Given the description of an element on the screen output the (x, y) to click on. 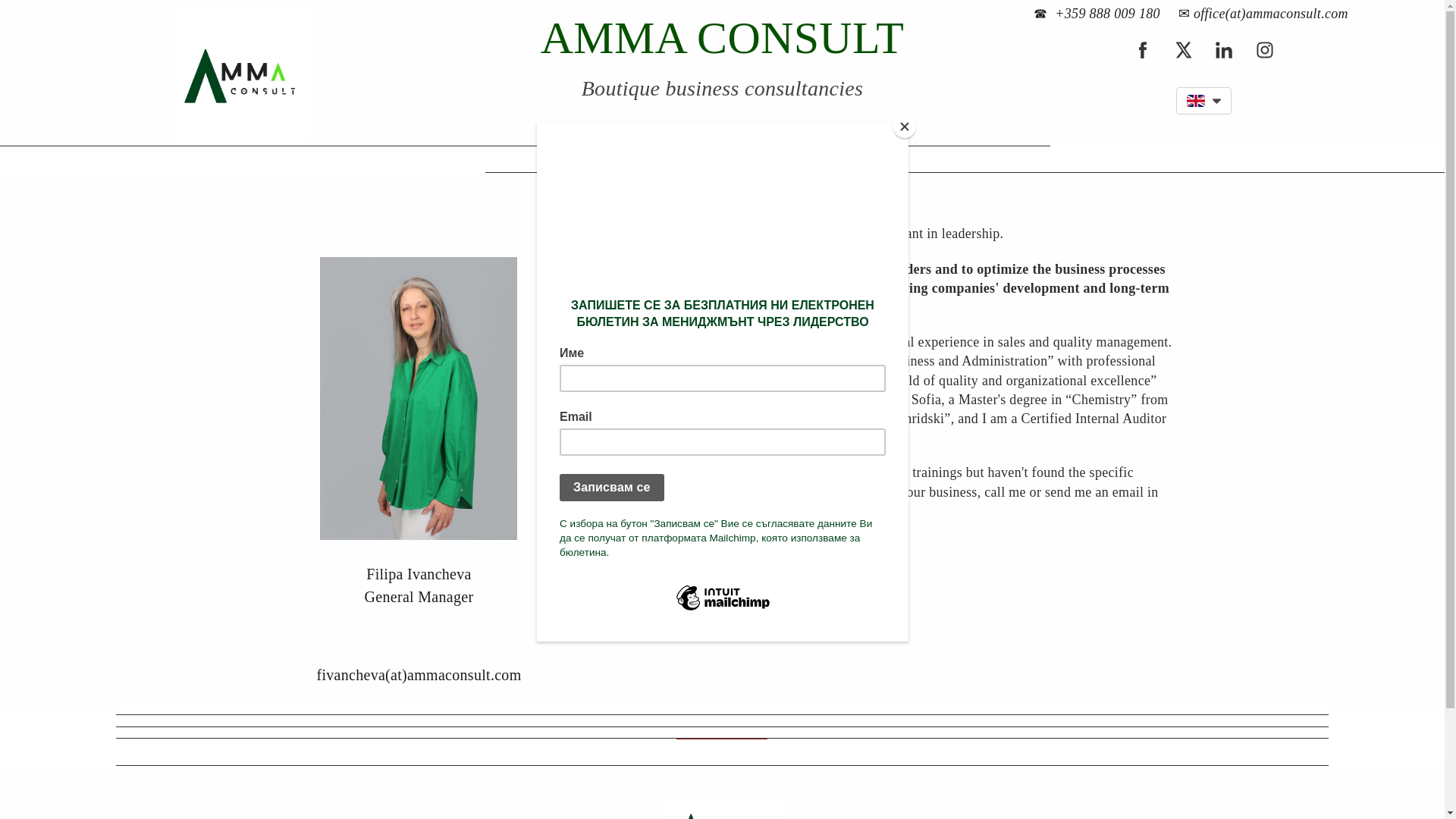
HOME (685, 159)
BLOG (758, 159)
